Given the description of an element on the screen output the (x, y) to click on. 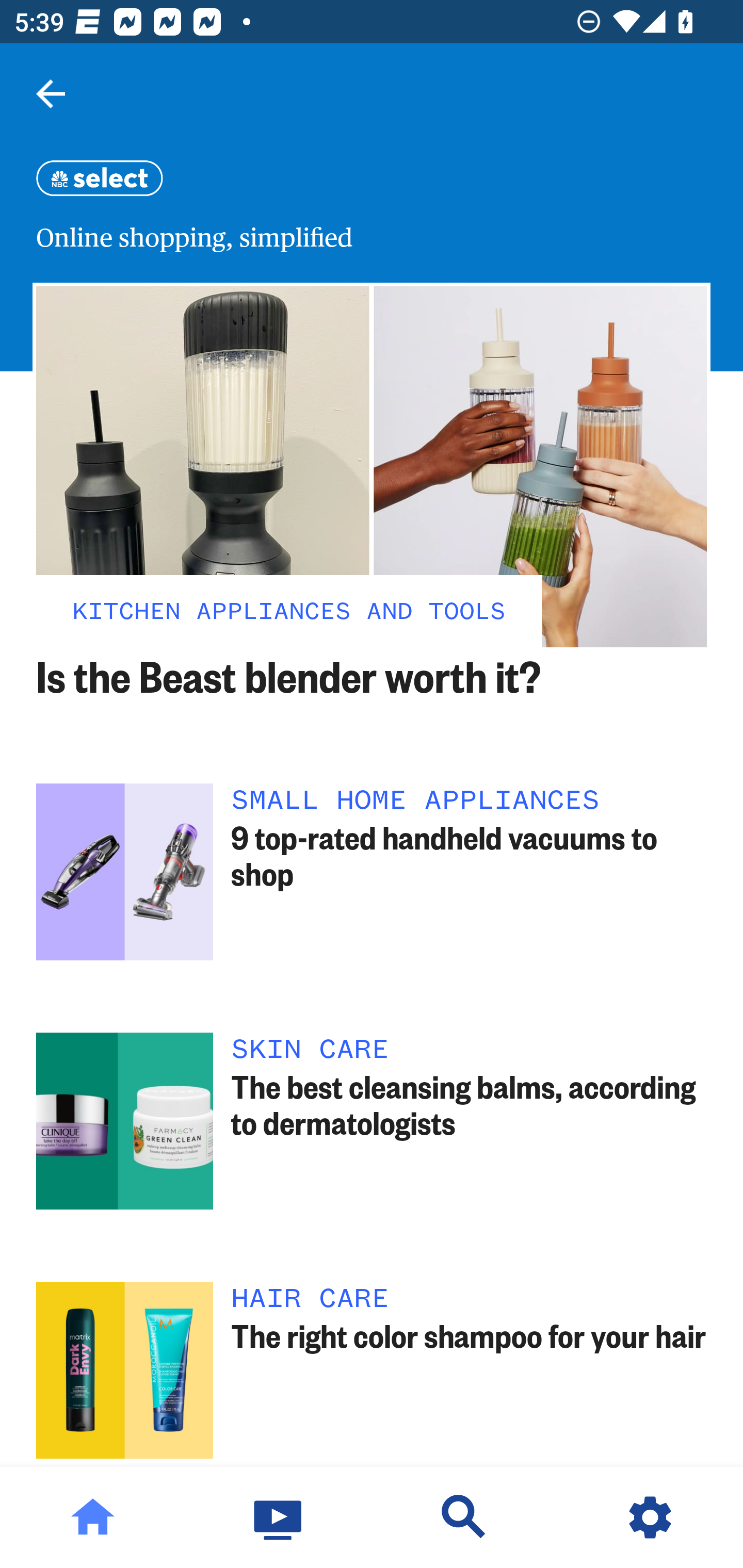
Navigate up (50, 93)
Watch (278, 1517)
Discover (464, 1517)
Settings (650, 1517)
